Given the description of an element on the screen output the (x, y) to click on. 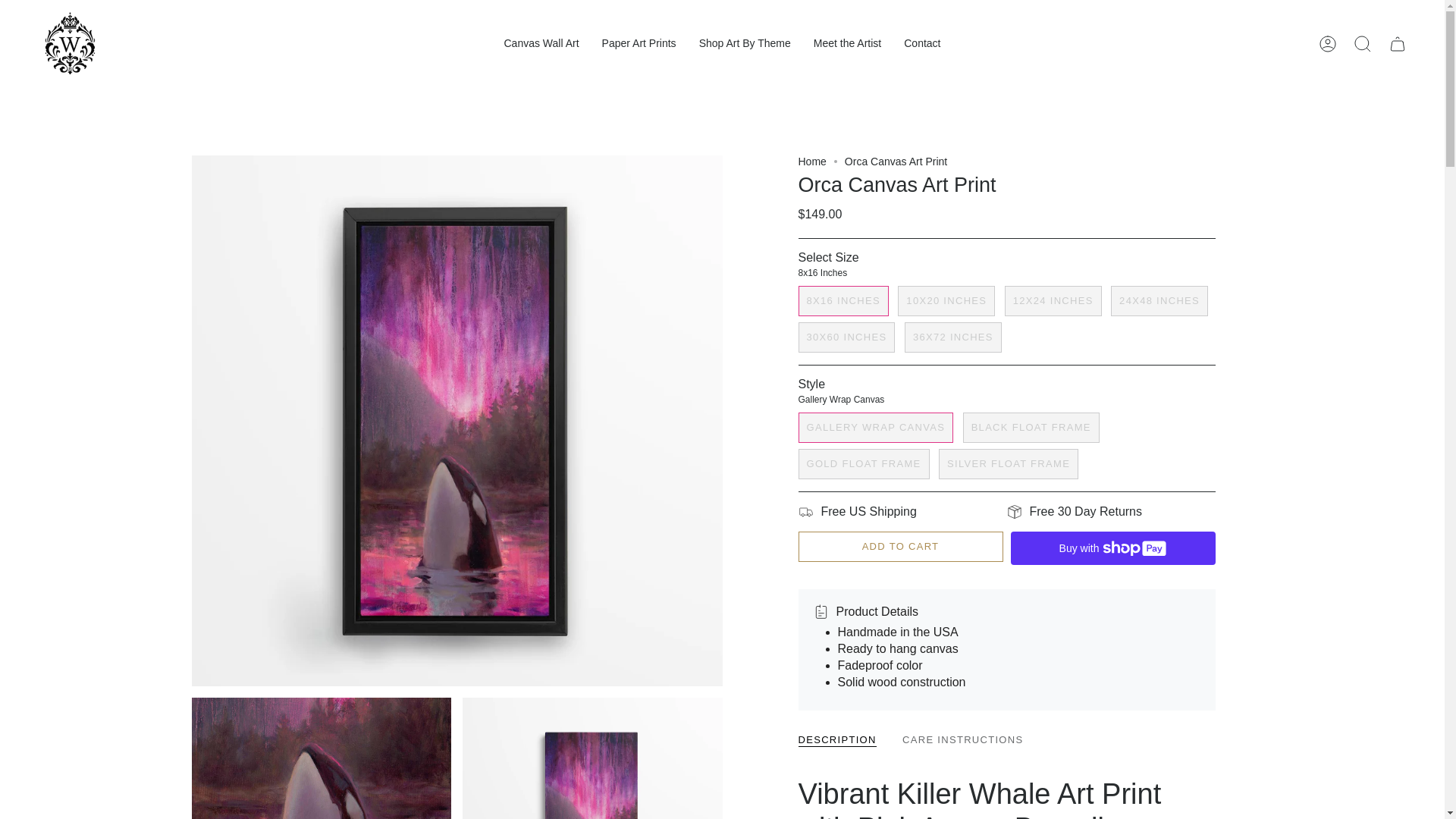
Cart (1397, 43)
Paper Art Prints (639, 43)
Shop Art By Theme (744, 43)
Search (1362, 43)
Contact (922, 43)
Canvas Wall Art (542, 43)
My Account (1327, 43)
Account (1327, 43)
Meet the Artist (847, 43)
